Given the description of an element on the screen output the (x, y) to click on. 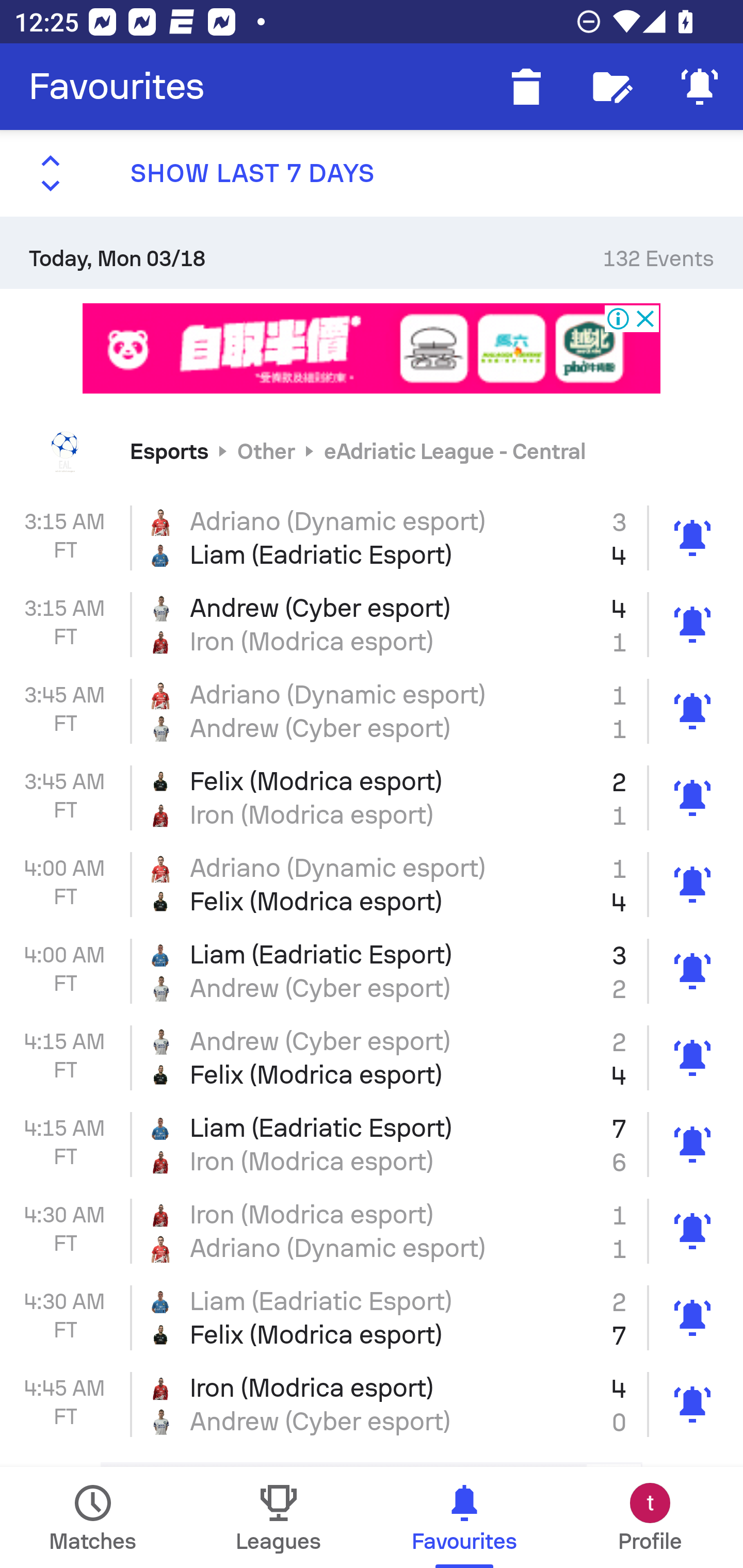
Favourites (116, 86)
Delete finished (525, 86)
Follow editor (612, 86)
Mute Notifications (699, 86)
SHOW LAST 7 DAYS (371, 173)
Today, Mon 03/18 132 Events (371, 252)
Advertisement (371, 347)
Esports Other eAdriatic League - Central (371, 450)
Matches (92, 1517)
Leagues (278, 1517)
Profile (650, 1517)
